Given the description of an element on the screen output the (x, y) to click on. 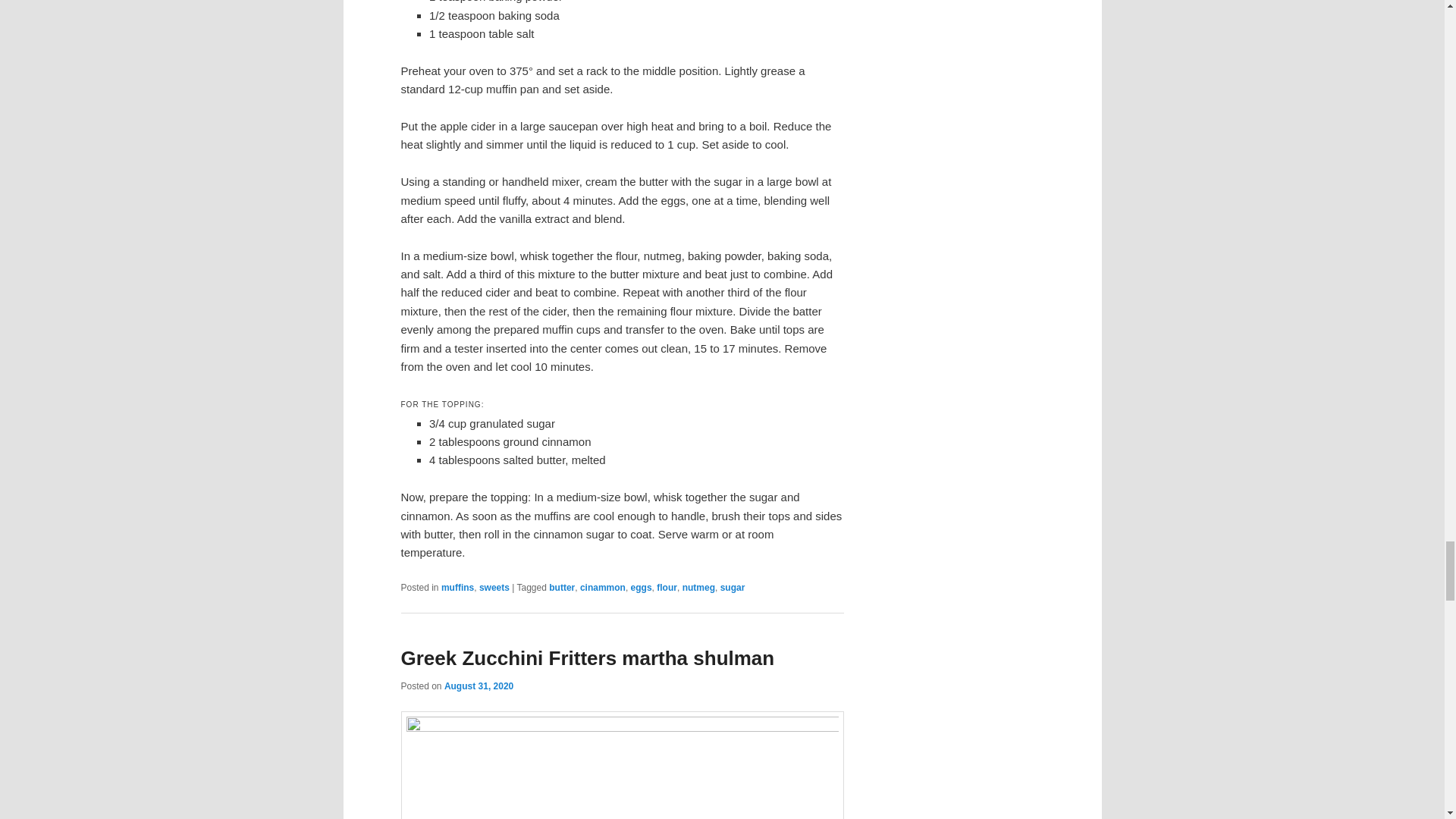
10:26 pm (478, 685)
